Given the description of an element on the screen output the (x, y) to click on. 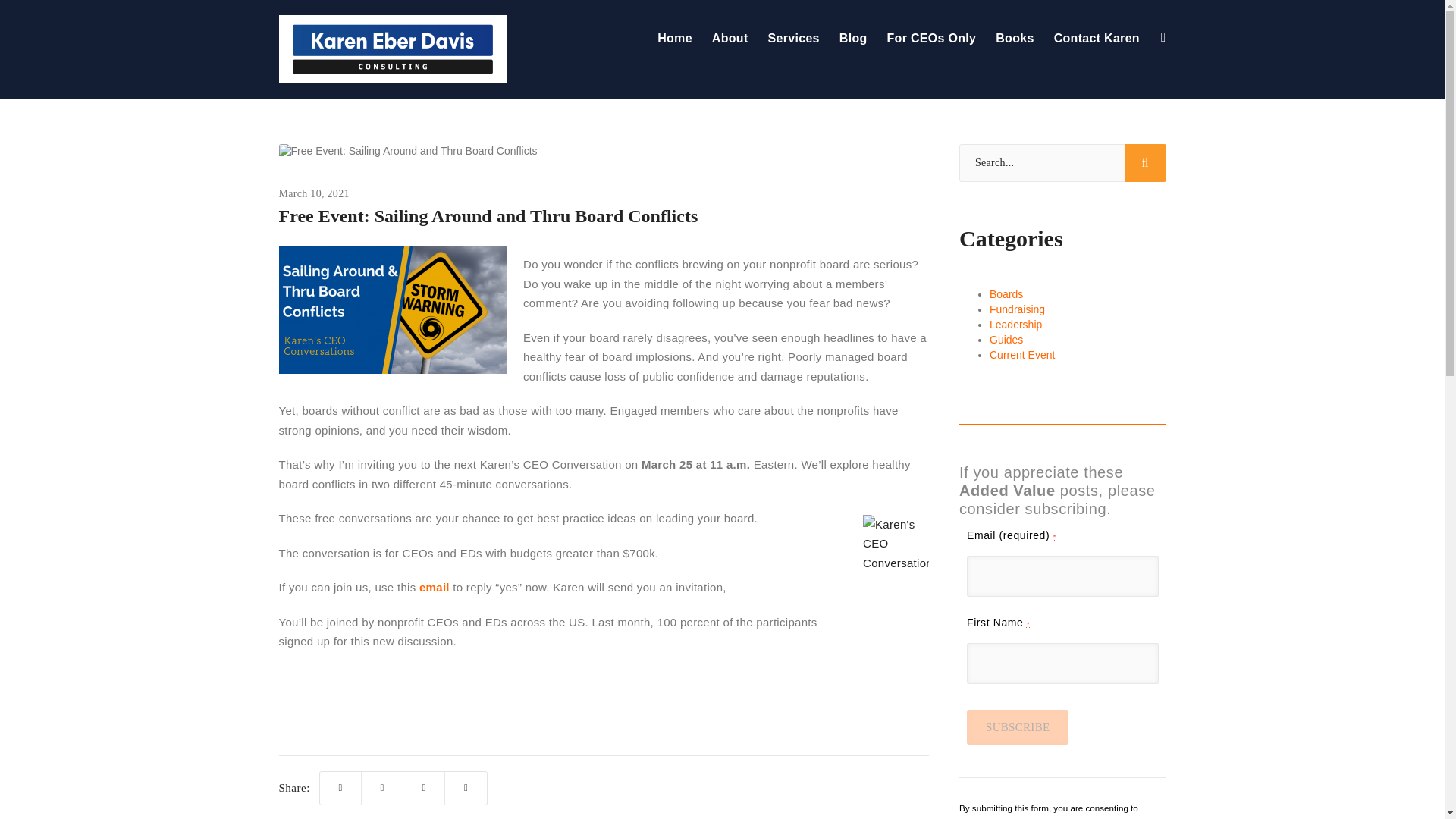
Share On Facebook (382, 788)
About (729, 38)
Home (679, 38)
Books (1014, 38)
email (434, 586)
For CEOs Only (932, 38)
Blog (853, 38)
Fundraising (1017, 309)
Share On Linkedin (424, 788)
Services (793, 38)
